Given the description of an element on the screen output the (x, y) to click on. 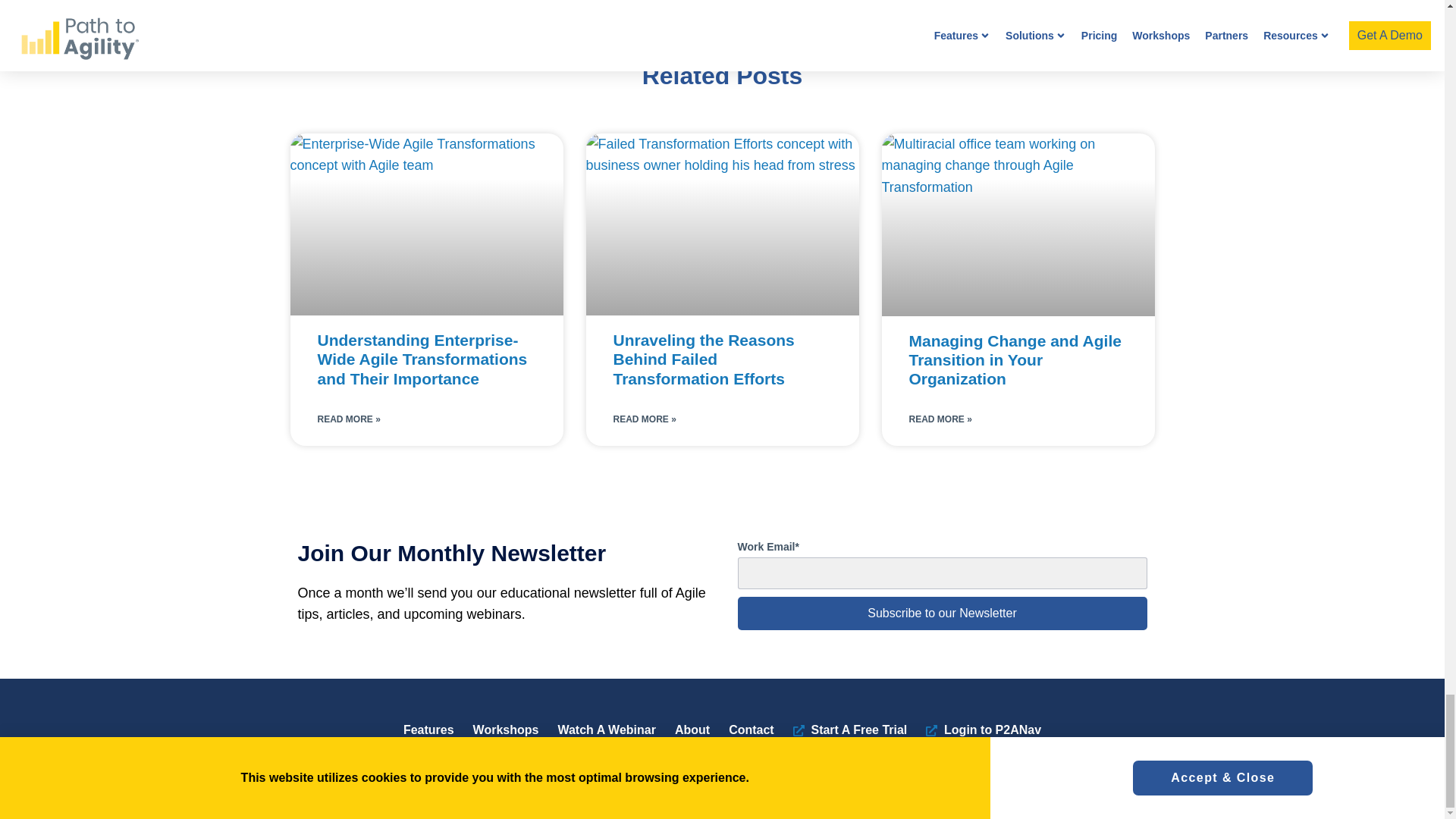
Subscribe to our Newsletter (941, 613)
